Given the description of an element on the screen output the (x, y) to click on. 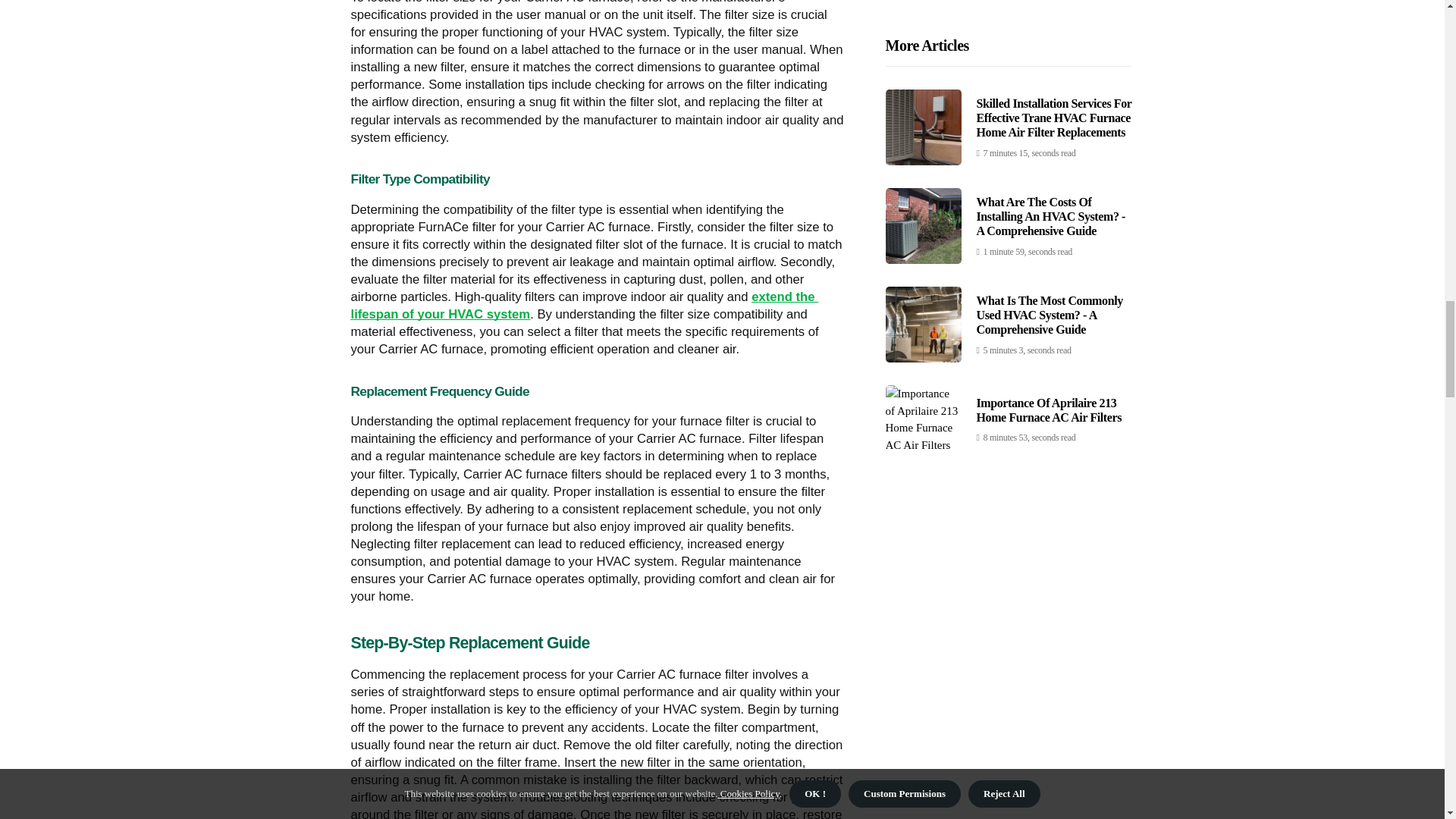
extend the lifespan of your HVAC system (584, 305)
